Given the description of an element on the screen output the (x, y) to click on. 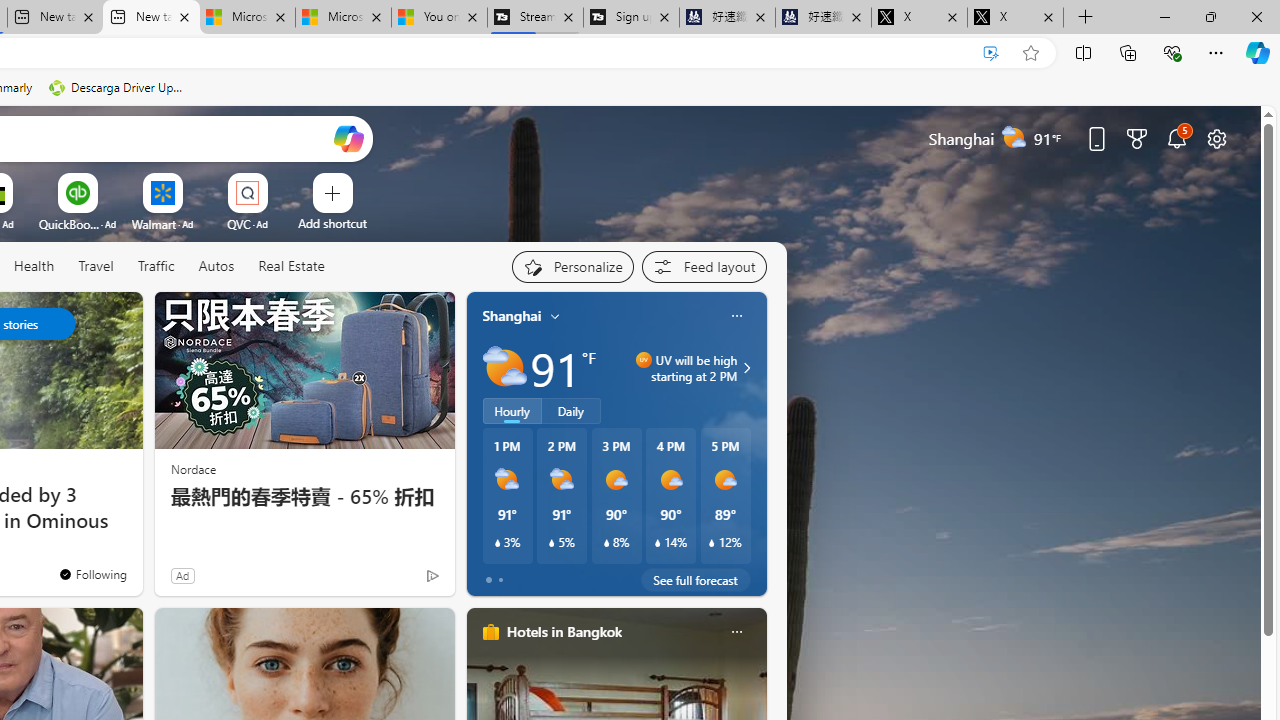
Daily (571, 411)
hotels-header-icon (490, 632)
